Given the description of an element on the screen output the (x, y) to click on. 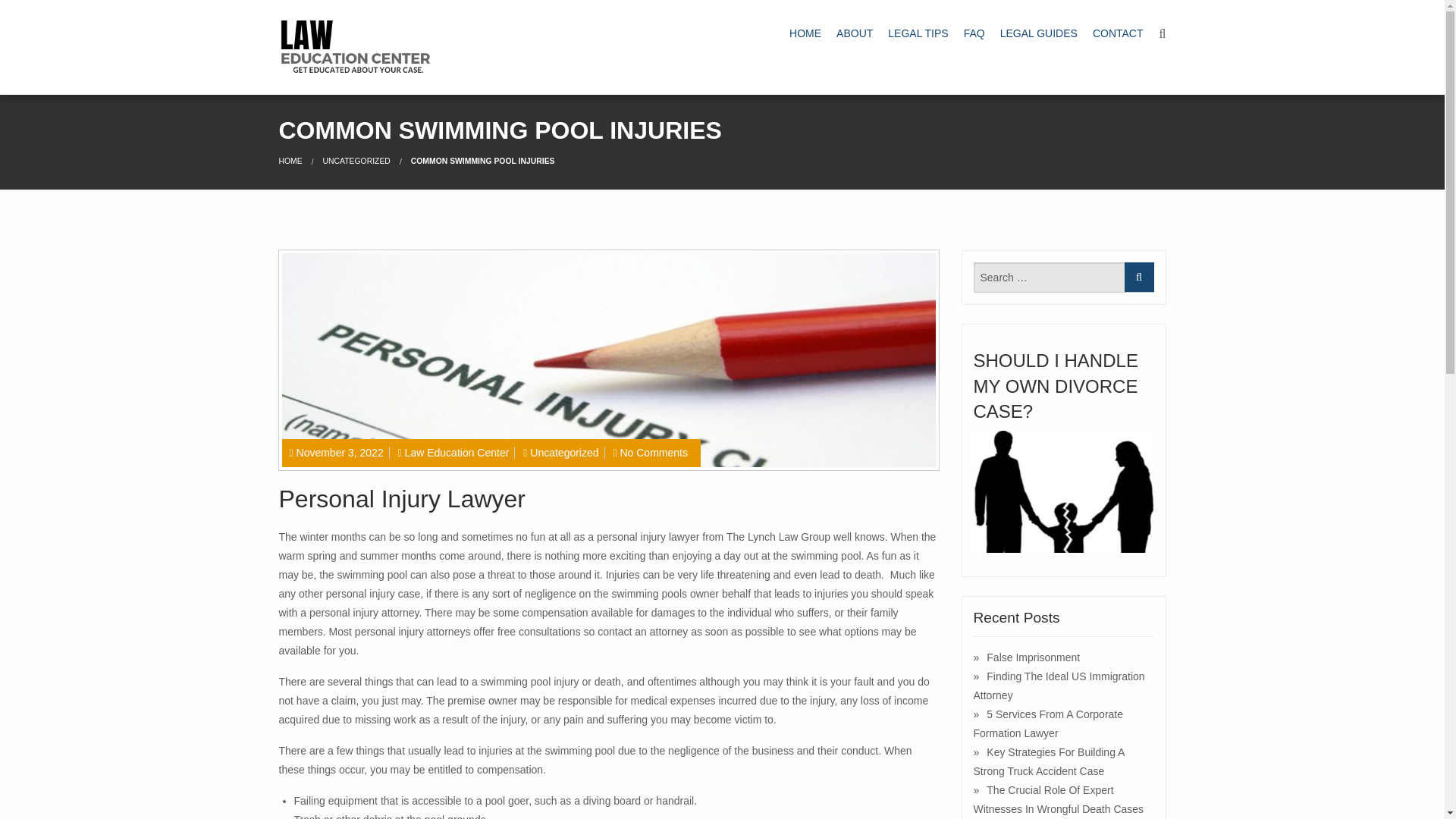
Common Swimming Pool Injuries (482, 161)
UNCATEGORIZED (356, 161)
Law Education Center (456, 452)
Finding The Ideal US Immigration Attorney (1059, 685)
LEGAL GUIDES (1038, 33)
False Imprisonment (1027, 657)
HOME (804, 33)
personal injury lawyer (647, 536)
Search for: (1064, 277)
ABOUT (854, 33)
